Given the description of an element on the screen output the (x, y) to click on. 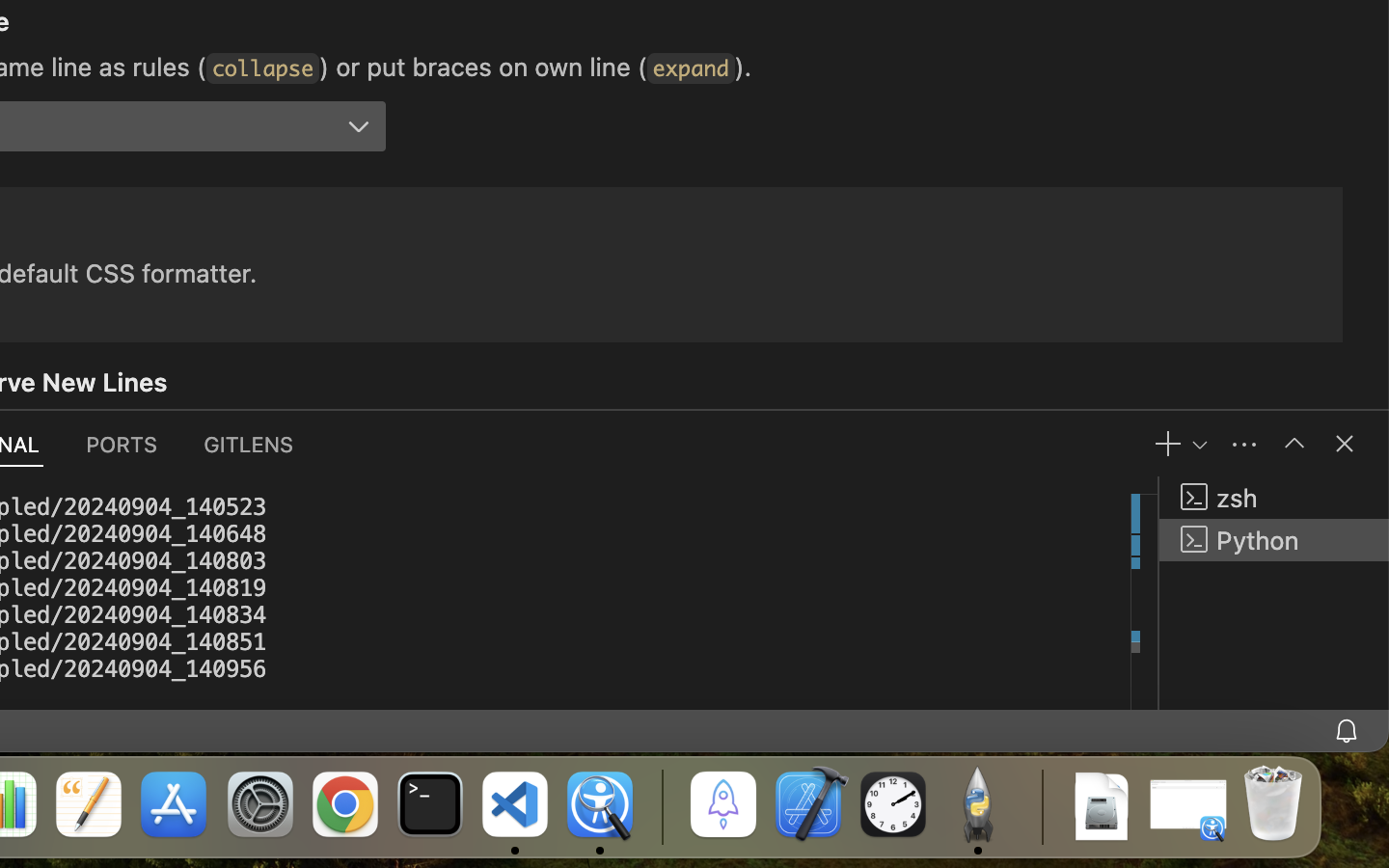
expand Element type: AXStaticText (690, 68)
